Given the description of an element on the screen output the (x, y) to click on. 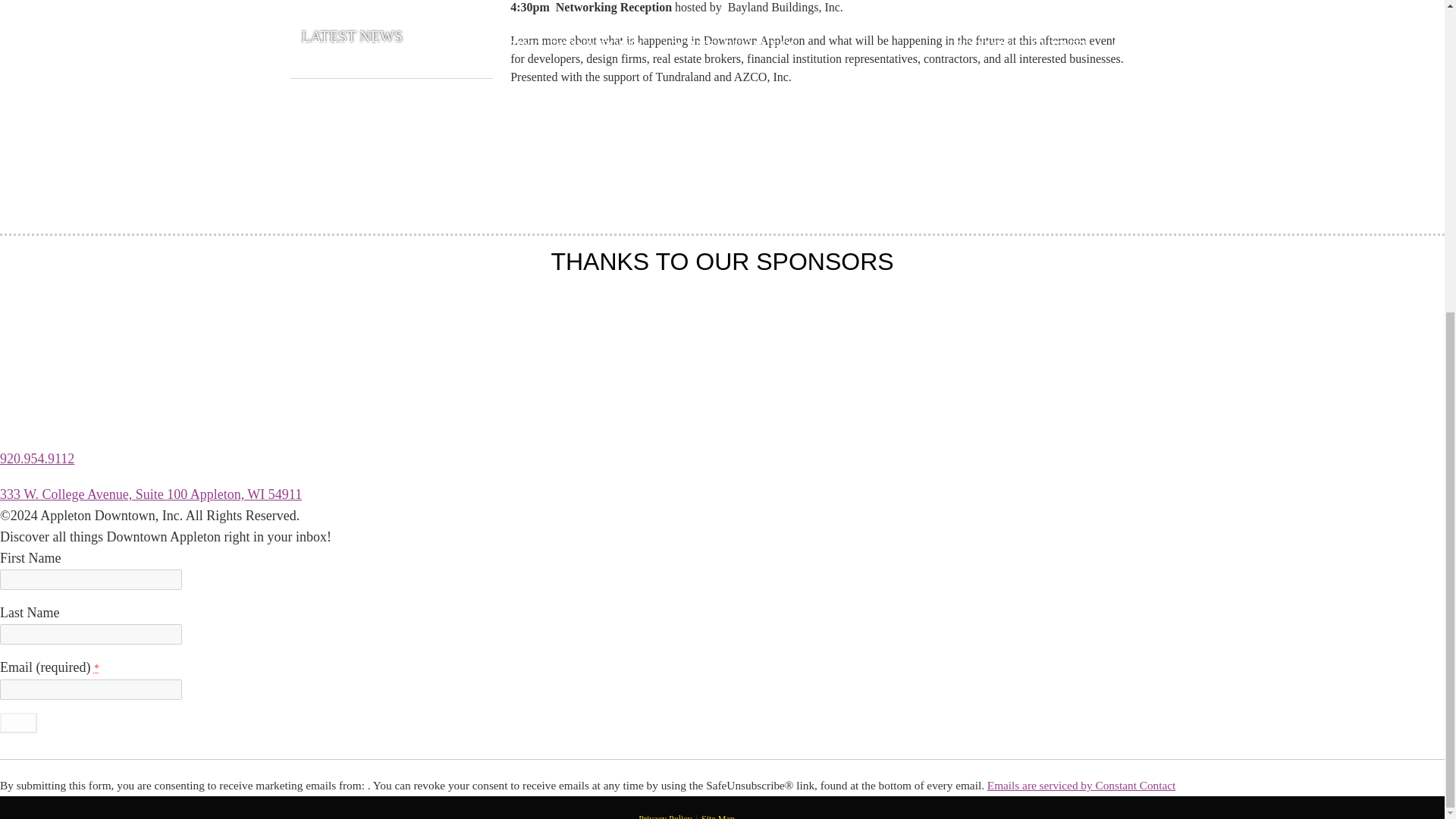
GO! (18, 722)
